Given the description of an element on the screen output the (x, y) to click on. 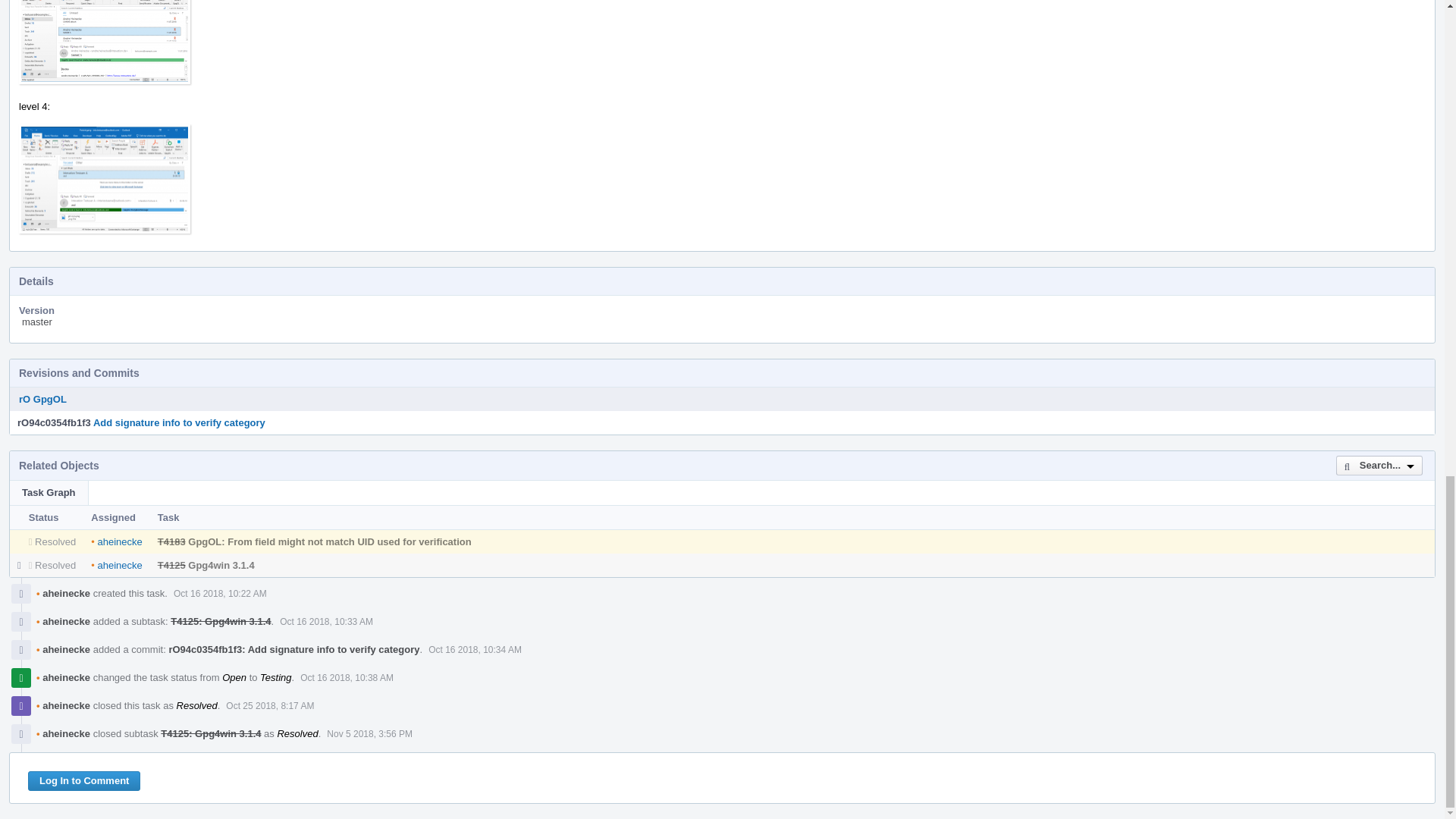
Search... (1379, 465)
Add signature info to verify category (178, 422)
rO GpgOL (42, 398)
